Given the description of an element on the screen output the (x, y) to click on. 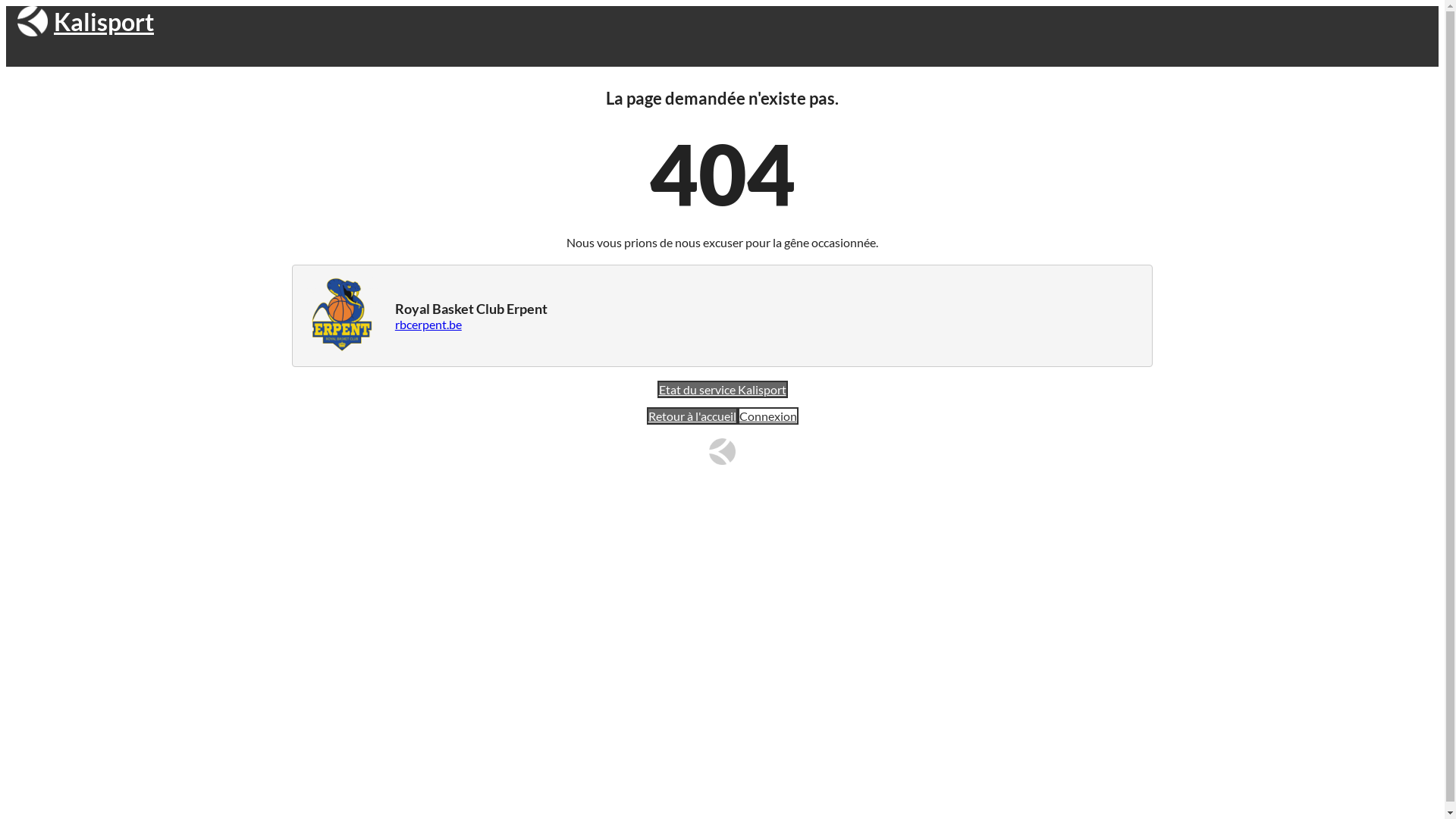
Etat du service Kalisport Element type: text (721, 389)
rbcerpent.be Element type: text (428, 323)
Connexion Element type: text (767, 414)
